Given the description of an element on the screen output the (x, y) to click on. 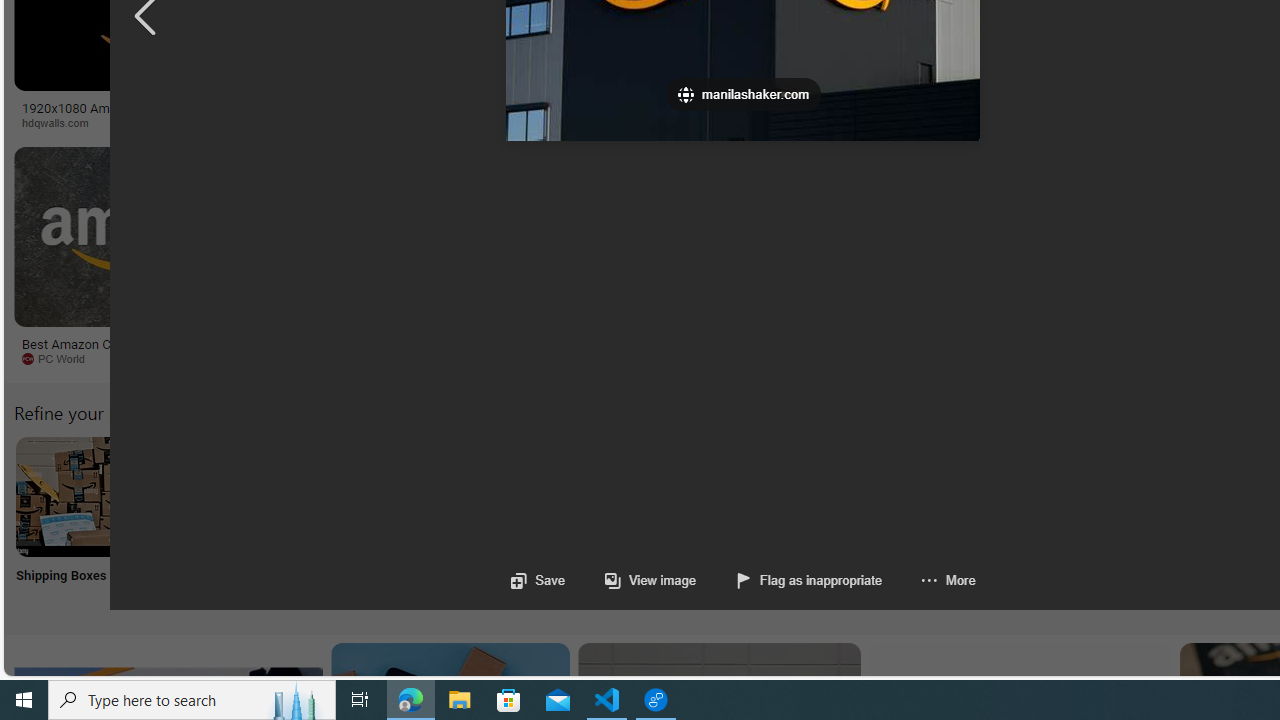
hdqwalls.com (167, 123)
hdqwalls.com (61, 121)
GOBankingRates (396, 121)
Amazon Online Shopping Search (207, 496)
aiophotoz.com (666, 359)
Image result for amazon (936, 236)
manilashaker.com (1162, 358)
Amazon Clip Art (339, 496)
Long Island Press (1105, 123)
